Given the description of an element on the screen output the (x, y) to click on. 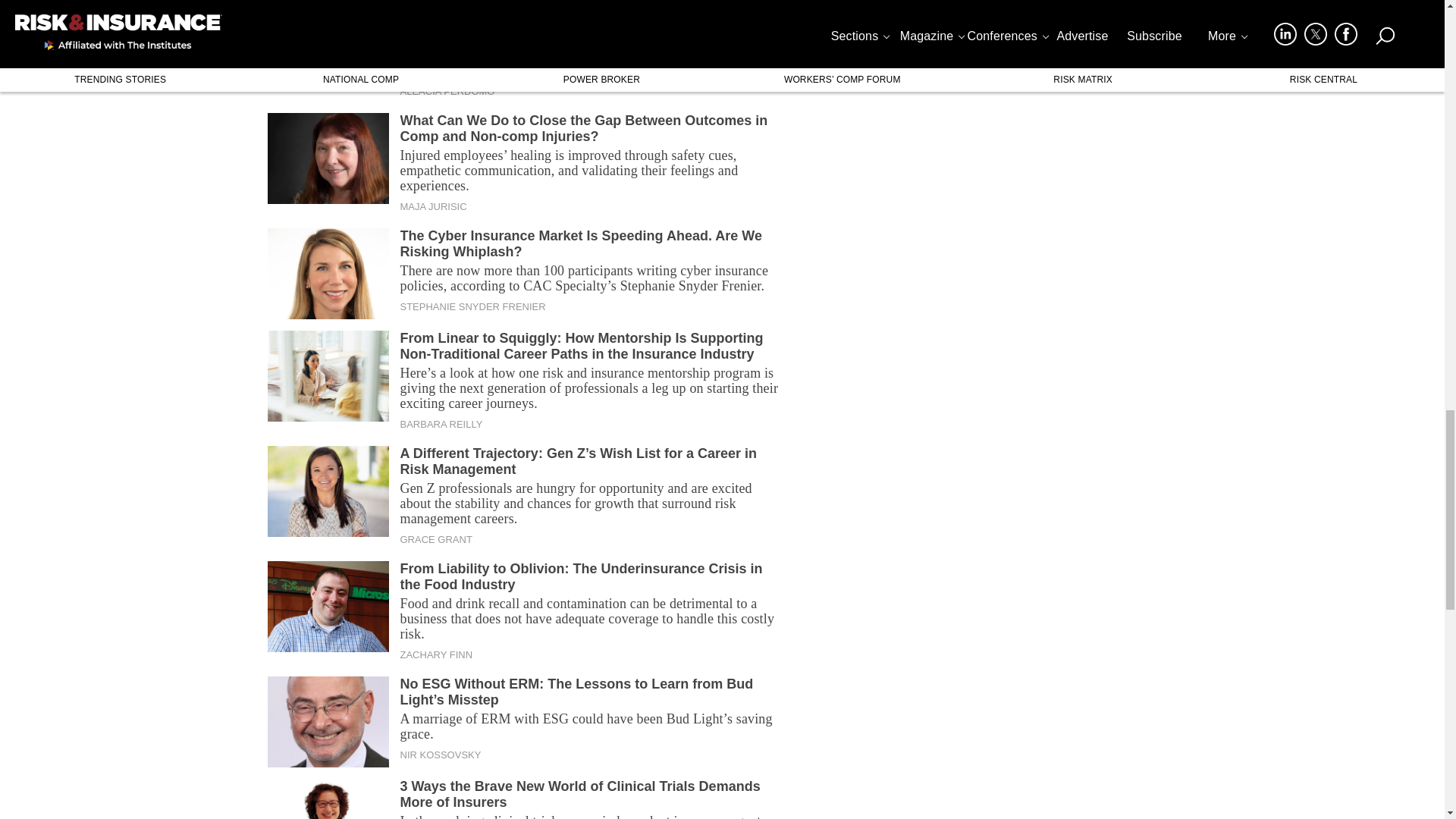
Posts by Maja Jurisic (433, 206)
Posts by Stephanie Snyder Frenier (473, 306)
Posts by Nir Kossovsky (440, 755)
Posts by Aleacia Perdomo (447, 91)
Posts by Zachary Finn (436, 654)
Posts by Barbara Reilly (441, 424)
Posts by Grace Grant (435, 539)
